Given the description of an element on the screen output the (x, y) to click on. 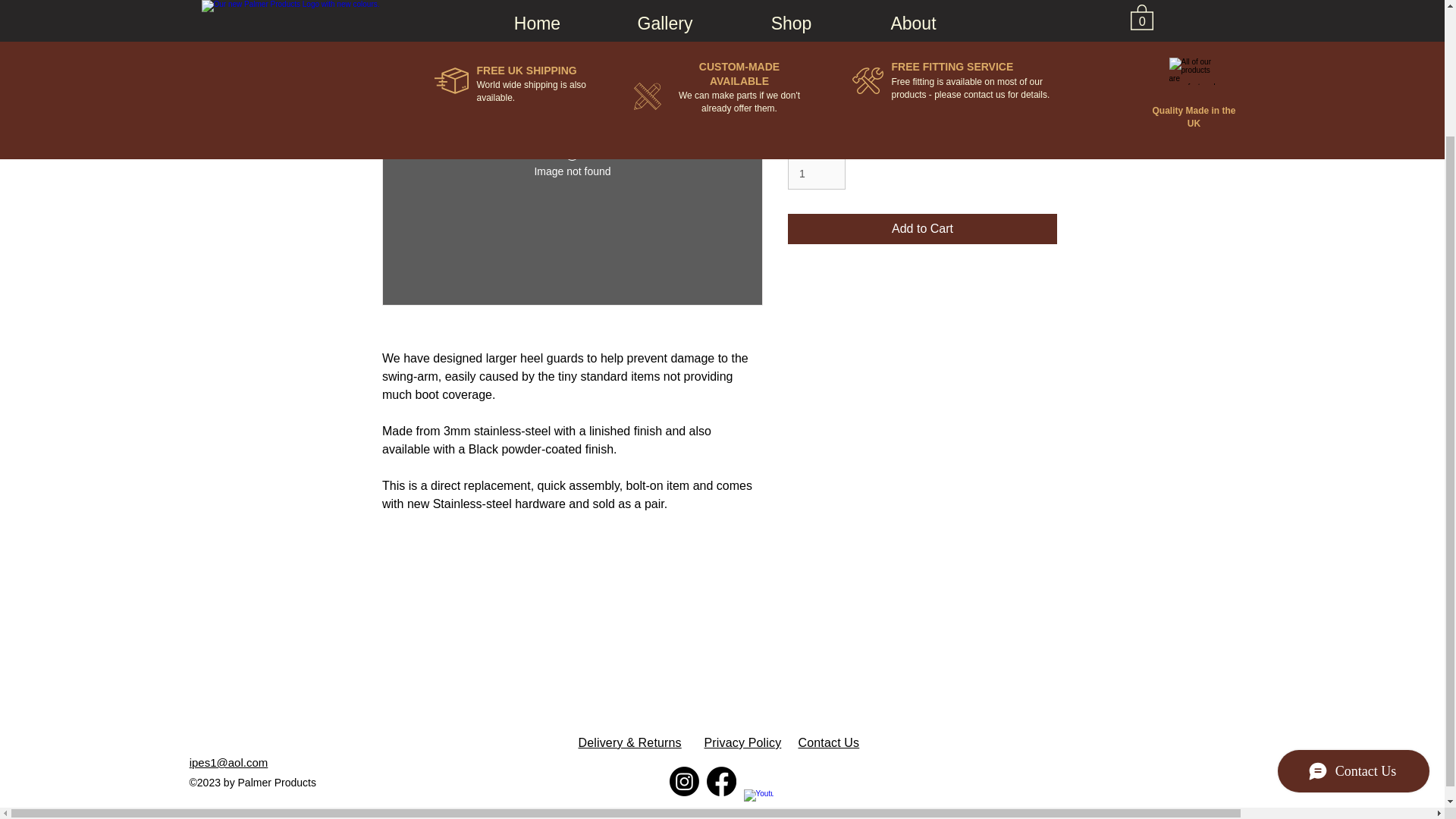
Privacy Policy (741, 742)
Add to Cart (922, 228)
Contact Us (828, 742)
1 (816, 173)
Wix Chat (1356, 618)
